Given the description of an element on the screen output the (x, y) to click on. 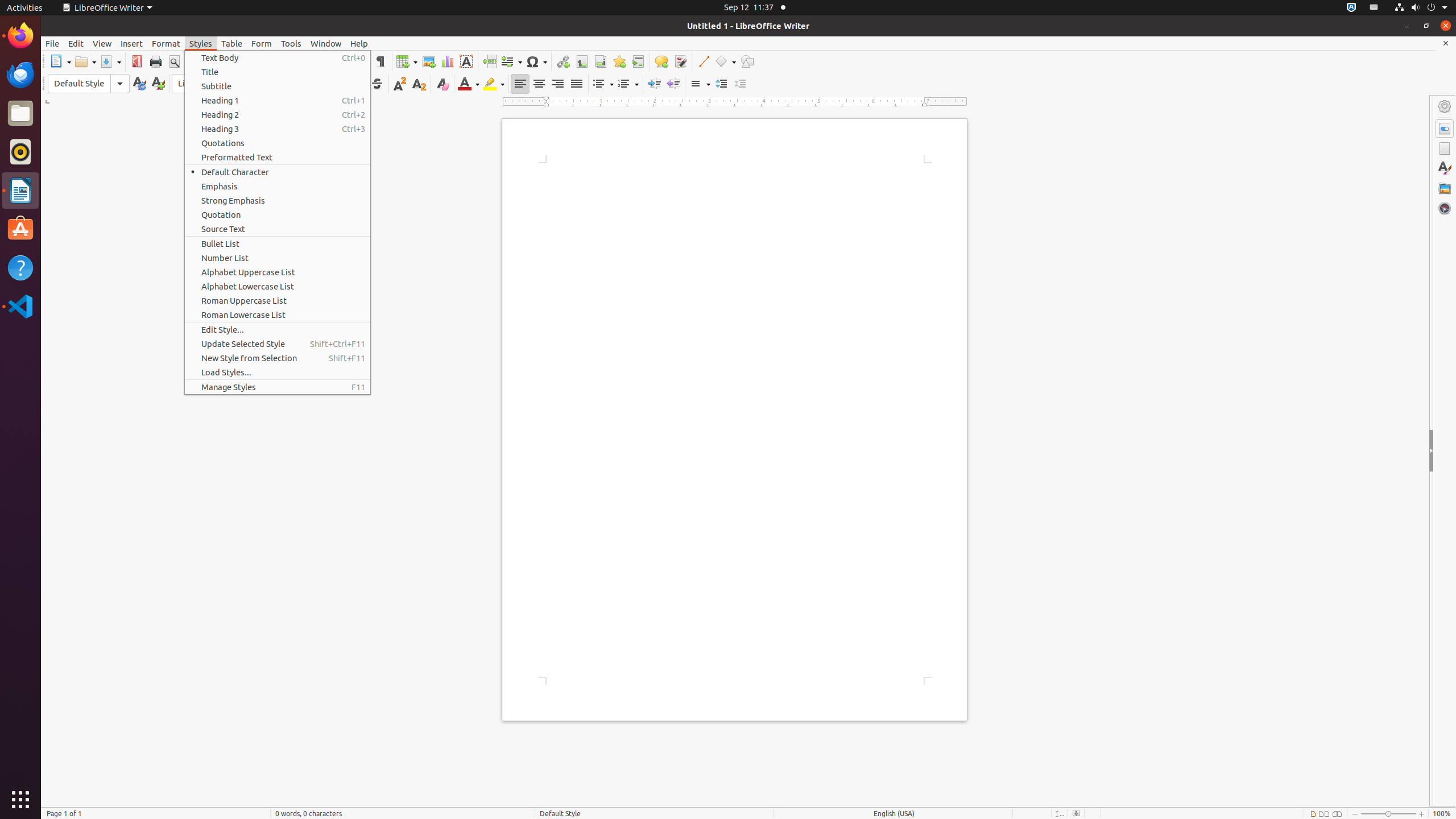
Cross-reference Element type: push-button (637, 61)
Visual Studio Code Element type: push-button (20, 306)
Format Element type: menu (165, 43)
Track Changes Functions Element type: toggle-button (679, 61)
Text Body Element type: radio-menu-item (277, 57)
